Given the description of an element on the screen output the (x, y) to click on. 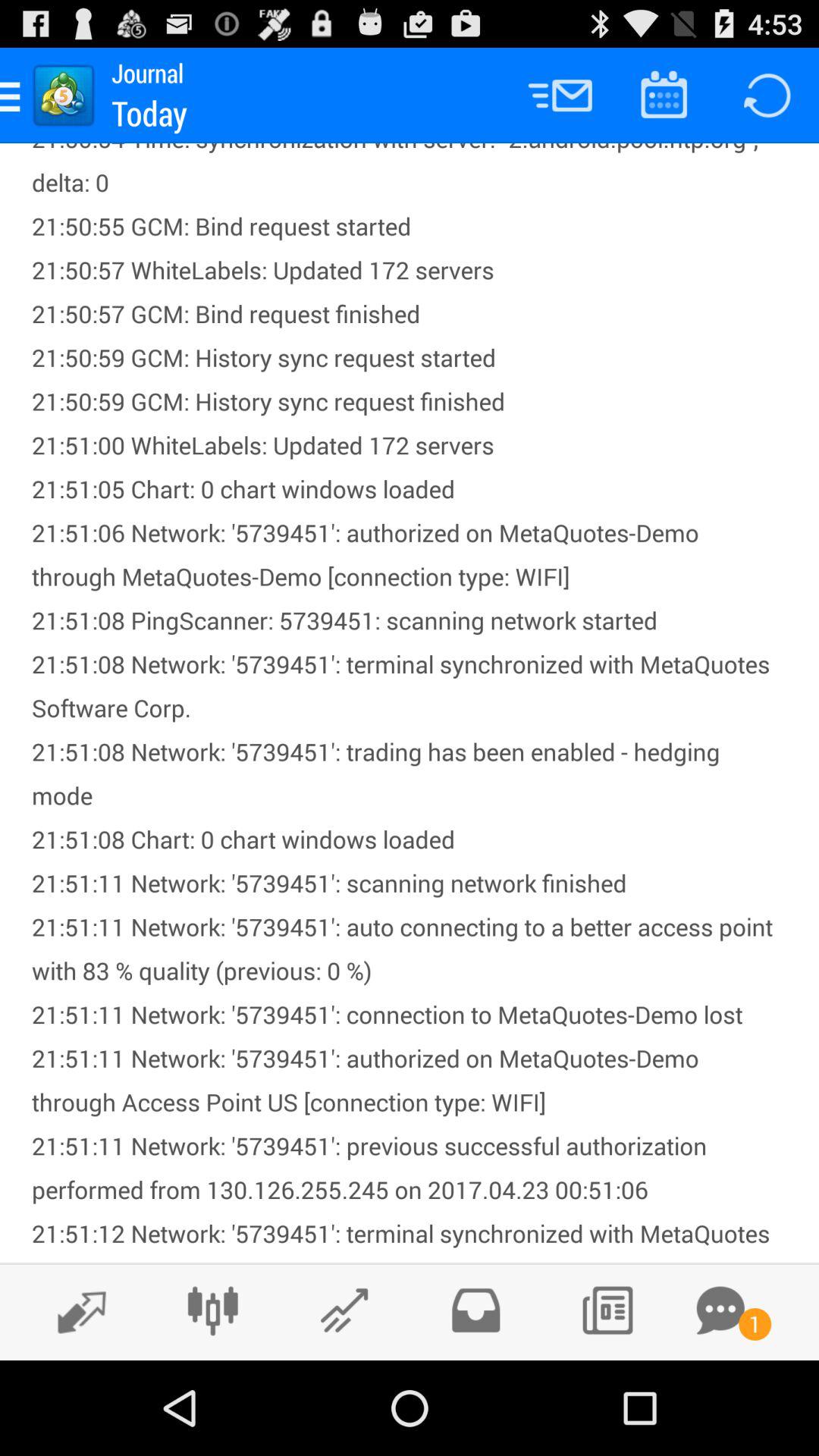
open 21 50 54 (409, 702)
